Given the description of an element on the screen output the (x, y) to click on. 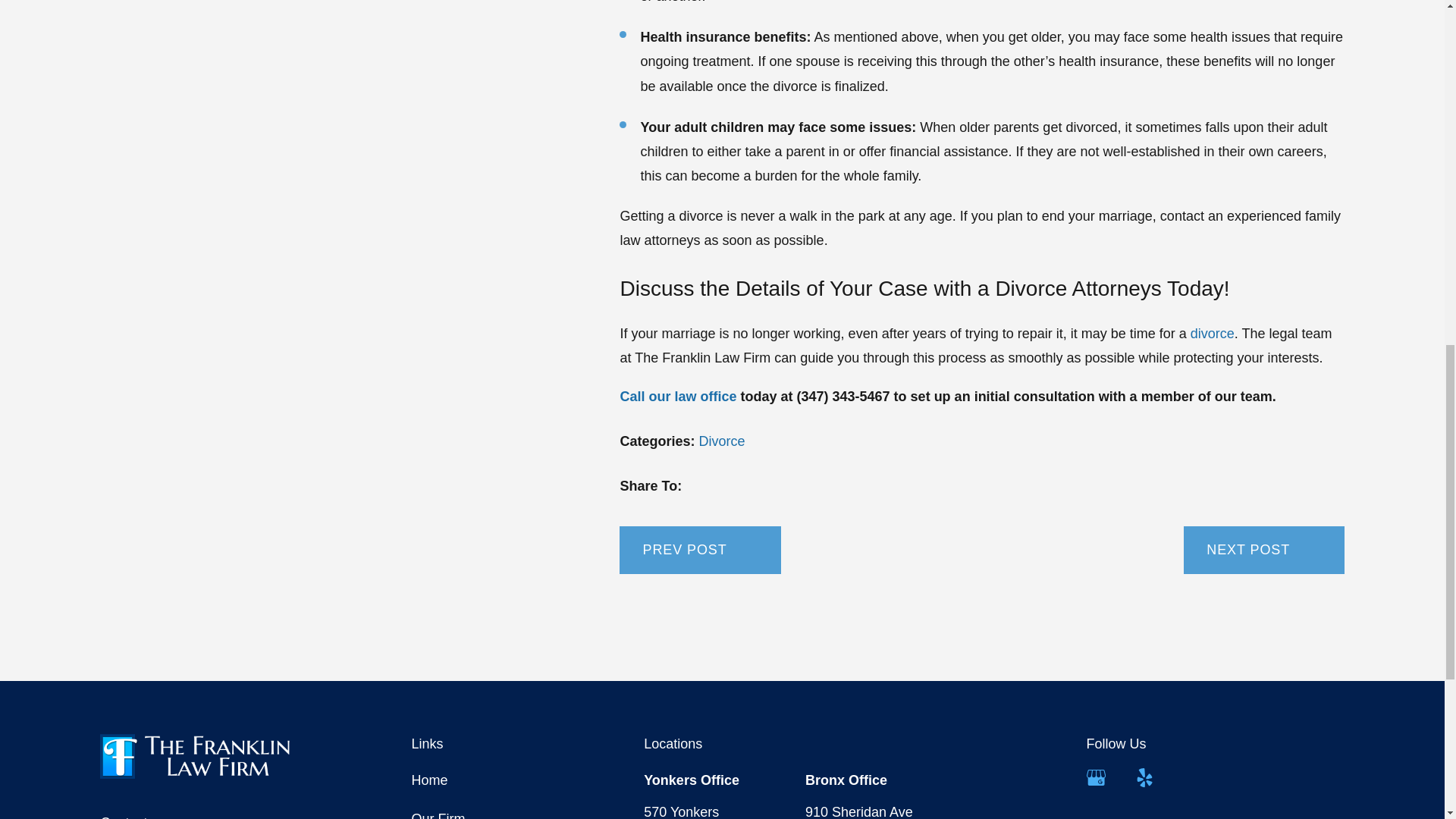
Yelp (1144, 777)
Home (209, 755)
Google Business Profile (1095, 777)
